Given the description of an element on the screen output the (x, y) to click on. 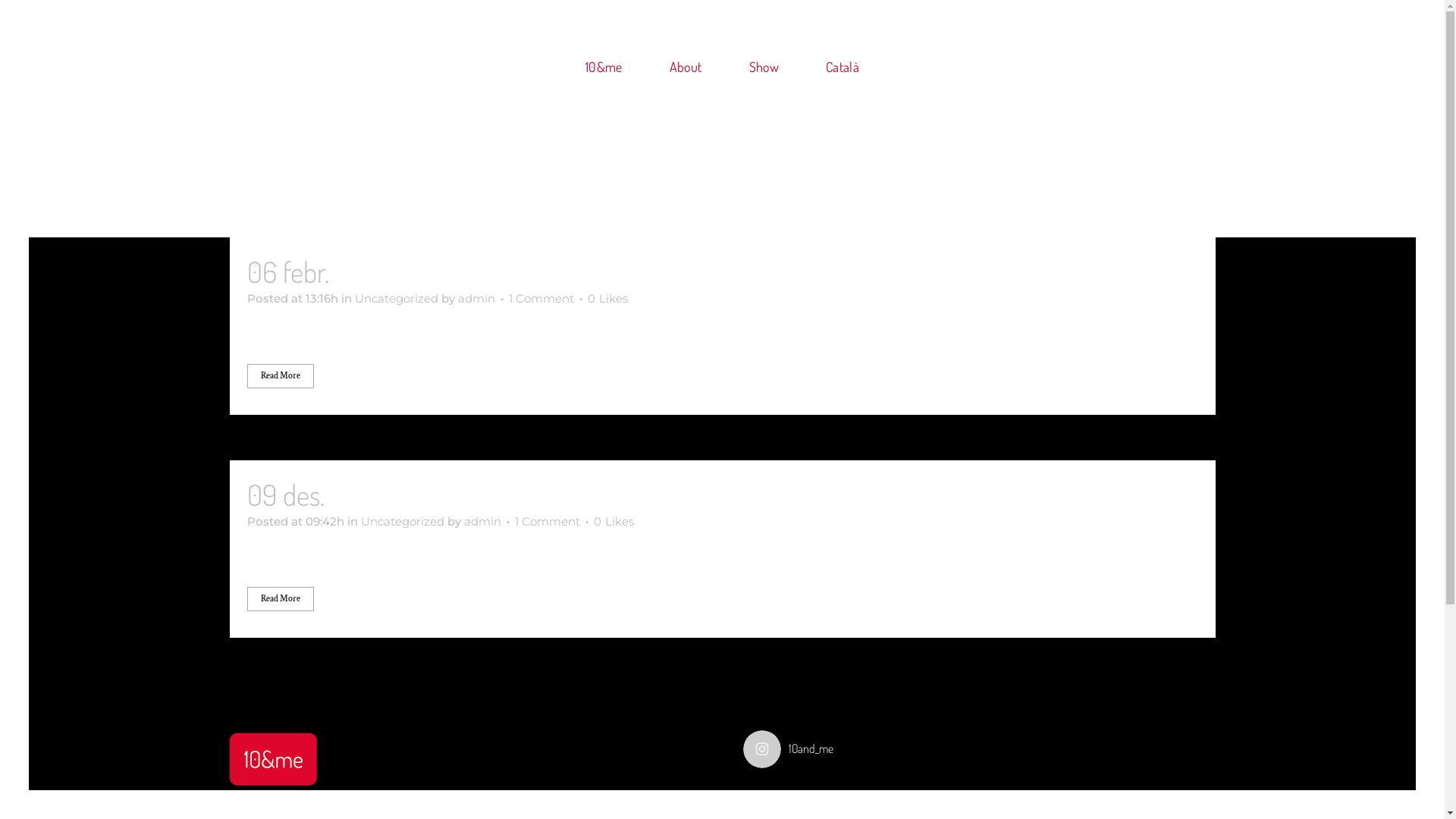
10and_me Element type: text (980, 749)
Uncategorized Element type: text (402, 521)
Hello world! Element type: text (394, 494)
admin Element type: text (482, 521)
1 Comment Element type: text (540, 298)
About Element type: text (685, 66)
0 Likes Element type: text (613, 521)
Read More Element type: text (280, 376)
Hello world! Element type: text (398, 271)
admin Element type: text (476, 298)
Read More Element type: text (280, 598)
10&me Element type: text (603, 66)
Show Element type: text (762, 66)
Uncategorized Element type: text (396, 298)
1 Comment Element type: text (546, 521)
0 Likes Element type: text (606, 298)
